Given the description of an element on the screen output the (x, y) to click on. 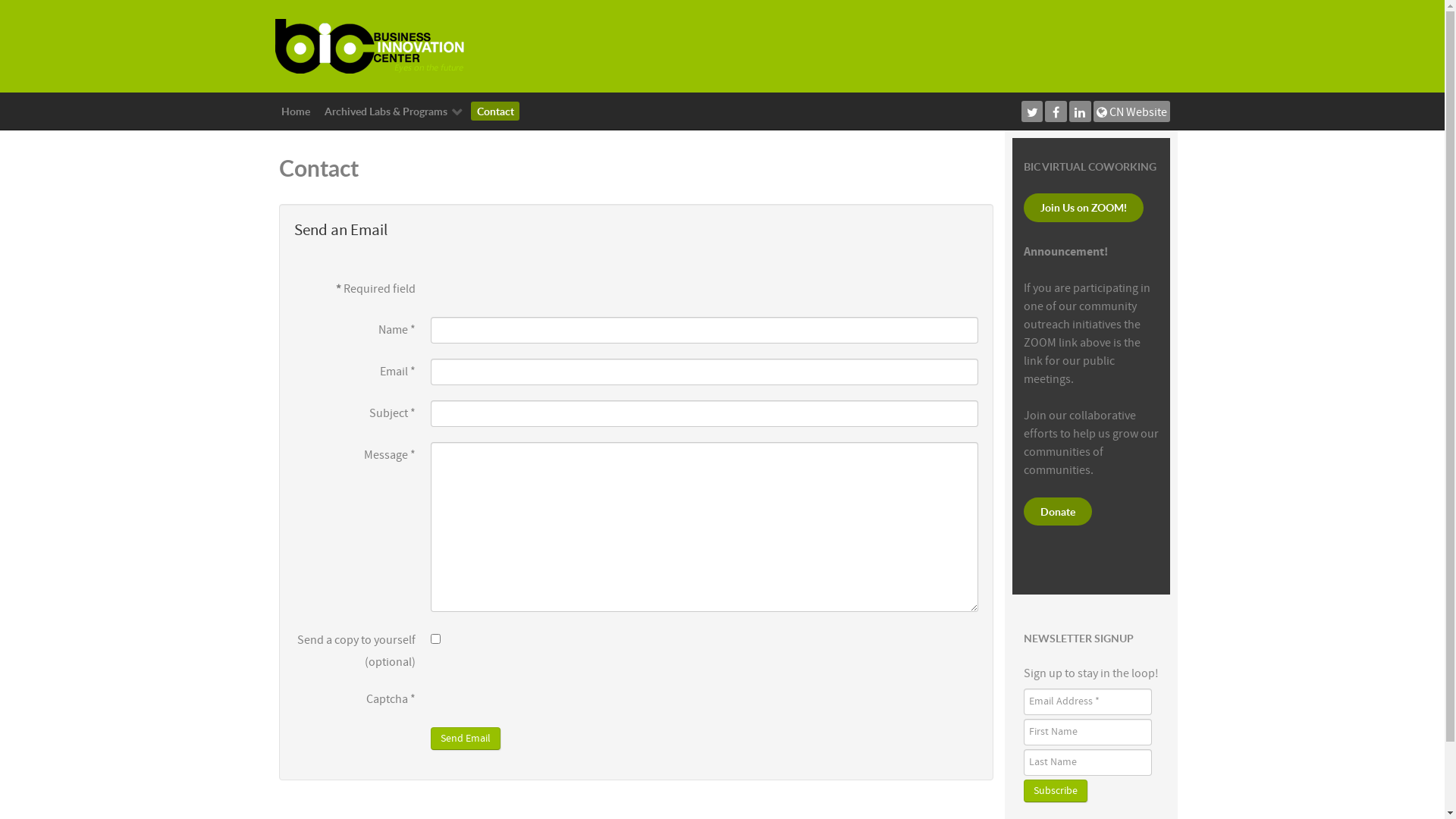
Send Email Element type: text (465, 738)
First Name Element type: hover (1087, 731)
CN Website Element type: text (1131, 111)
Home Element type: text (295, 110)
Contact Element type: text (494, 110)
Email Address * Element type: hover (1087, 701)
Join Us on ZOOM! Element type: text (1083, 207)
Last Name Element type: hover (1087, 762)
Donate Element type: text (1057, 511)
Callisto Element type: hover (369, 45)
Archived Labs & Programs Element type: text (393, 110)
